Given the description of an element on the screen output the (x, y) to click on. 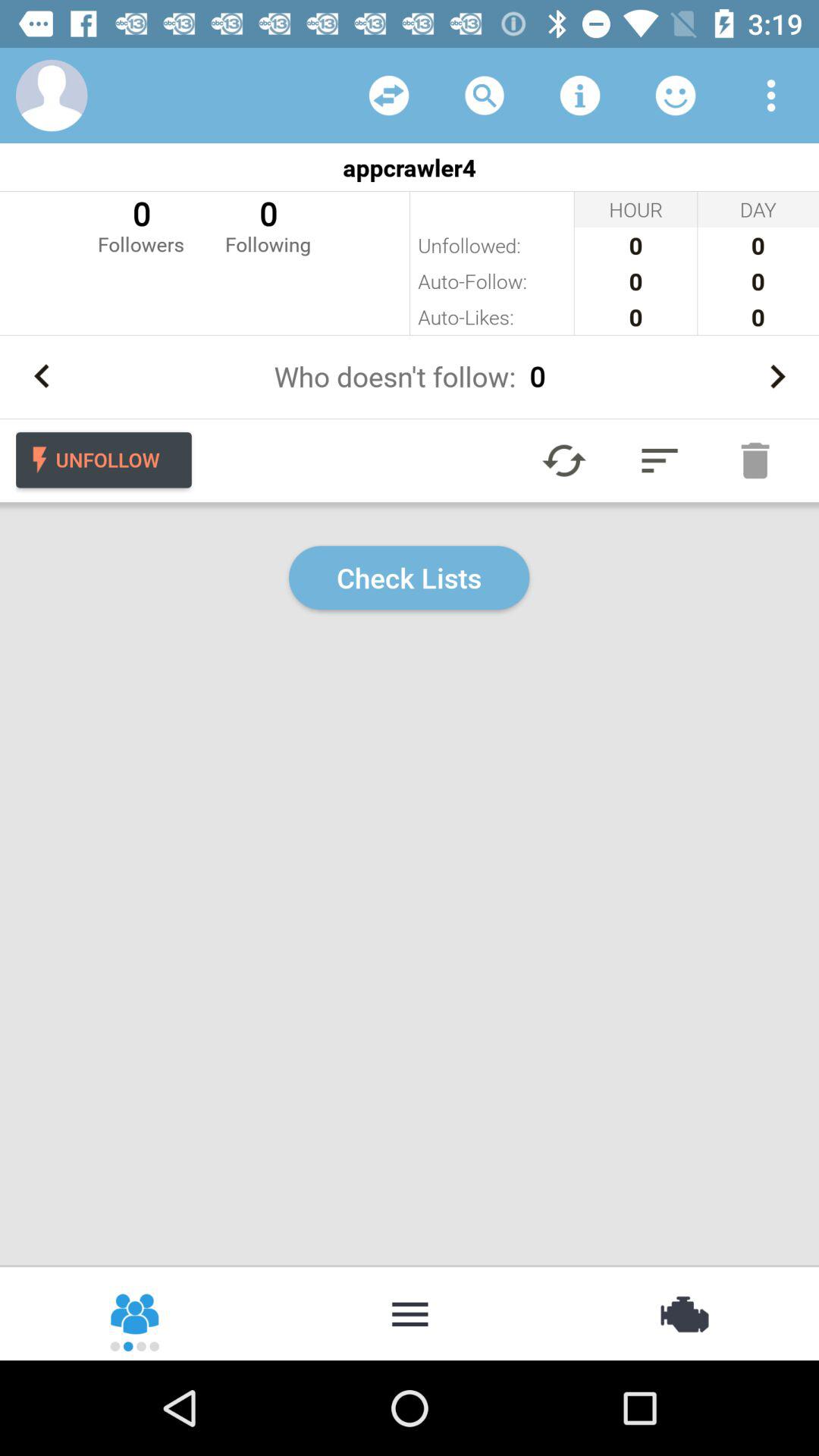
open menu (771, 95)
